Given the description of an element on the screen output the (x, y) to click on. 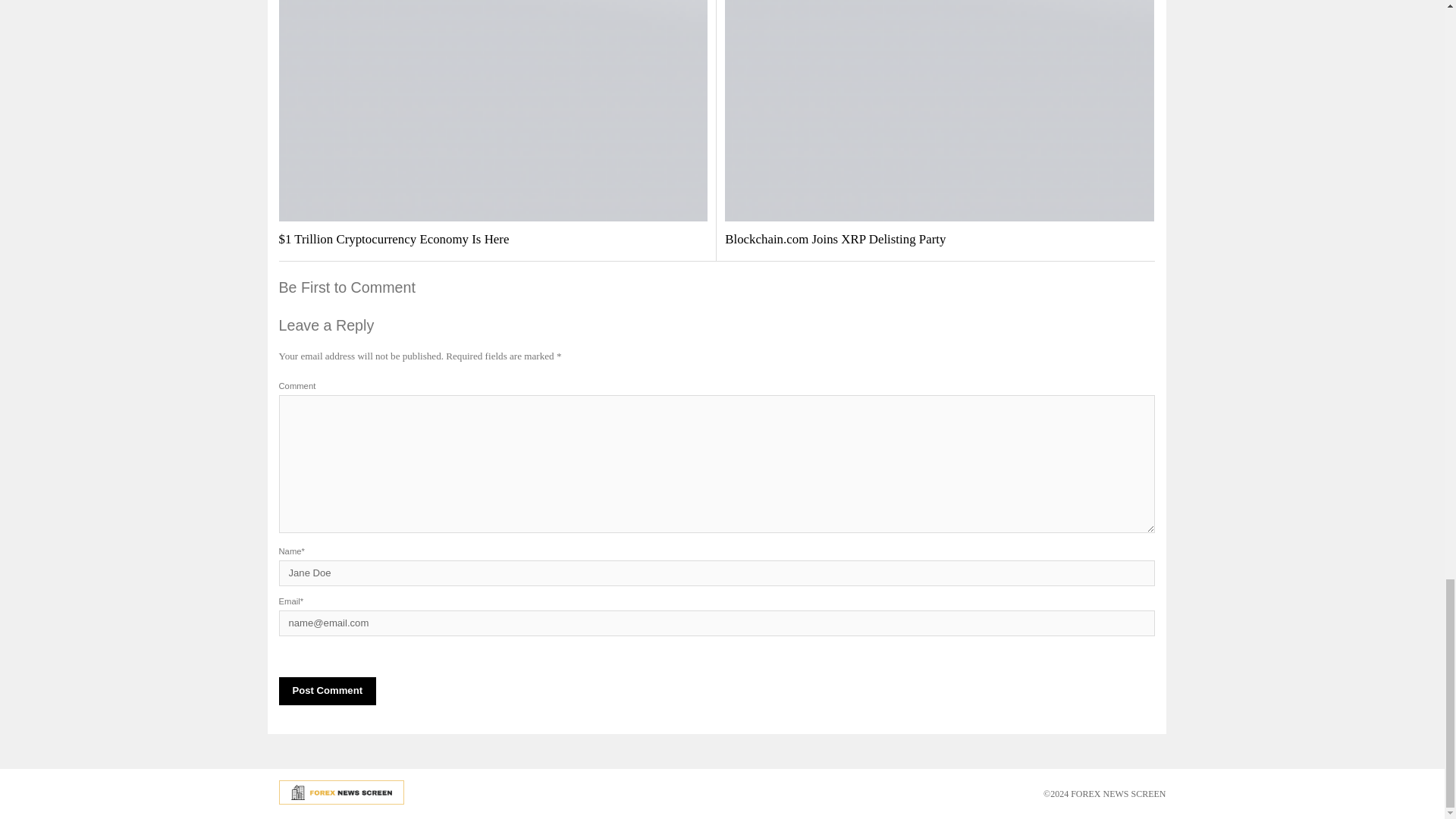
Post Comment (328, 691)
